Given the description of an element on the screen output the (x, y) to click on. 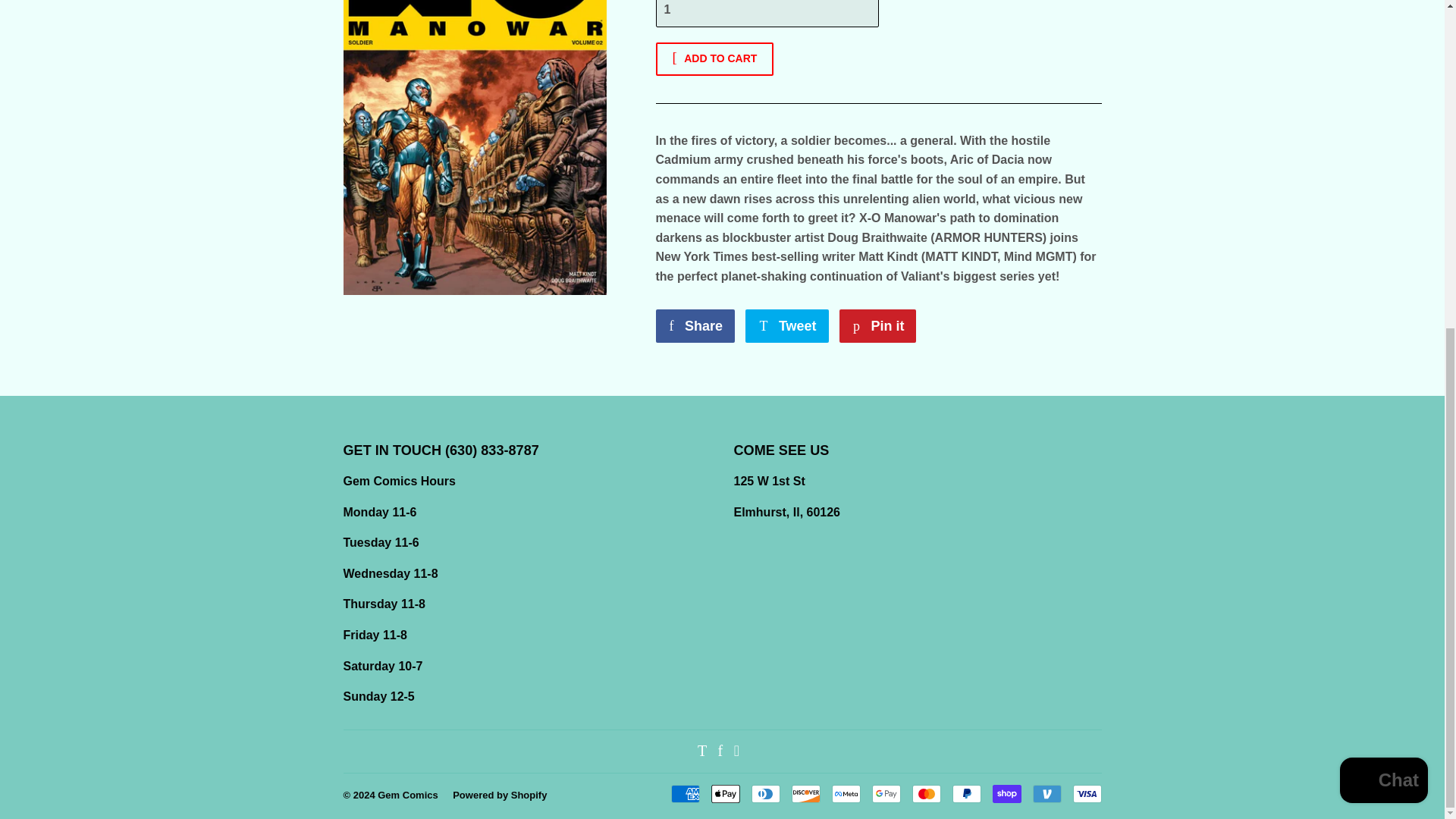
American Express (683, 793)
1 (766, 13)
Meta Pay (845, 793)
Share on Facebook (694, 326)
Shopify online store chat (694, 326)
Tweet on Twitter (1383, 240)
Google Pay (786, 326)
Mastercard (886, 793)
